Given the description of an element on the screen output the (x, y) to click on. 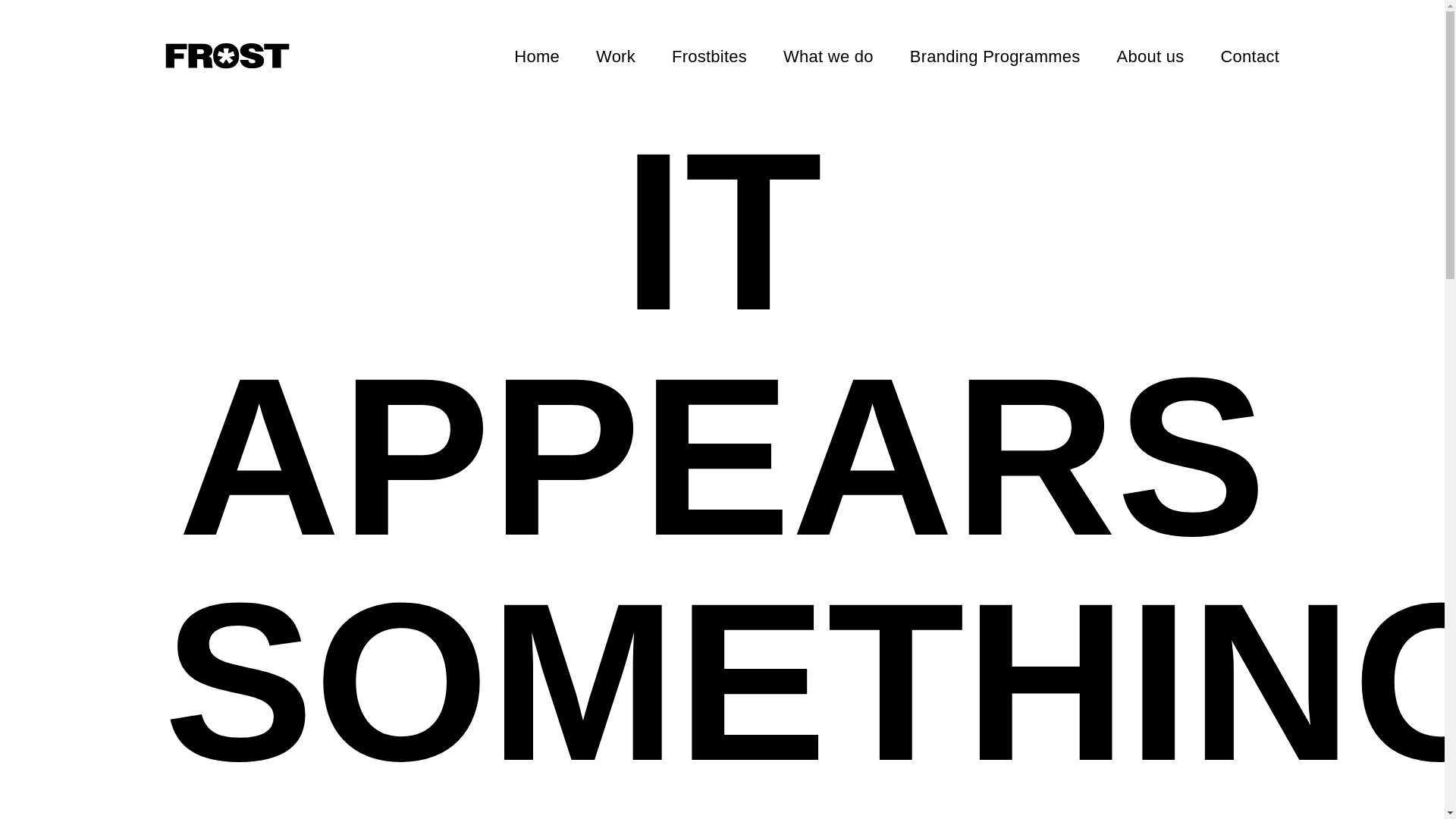
About us (1150, 56)
Home (536, 56)
Contact (1249, 56)
Work (614, 56)
Frostbites (708, 56)
Branding Programmes (995, 56)
What we do (828, 56)
